Given the description of an element on the screen output the (x, y) to click on. 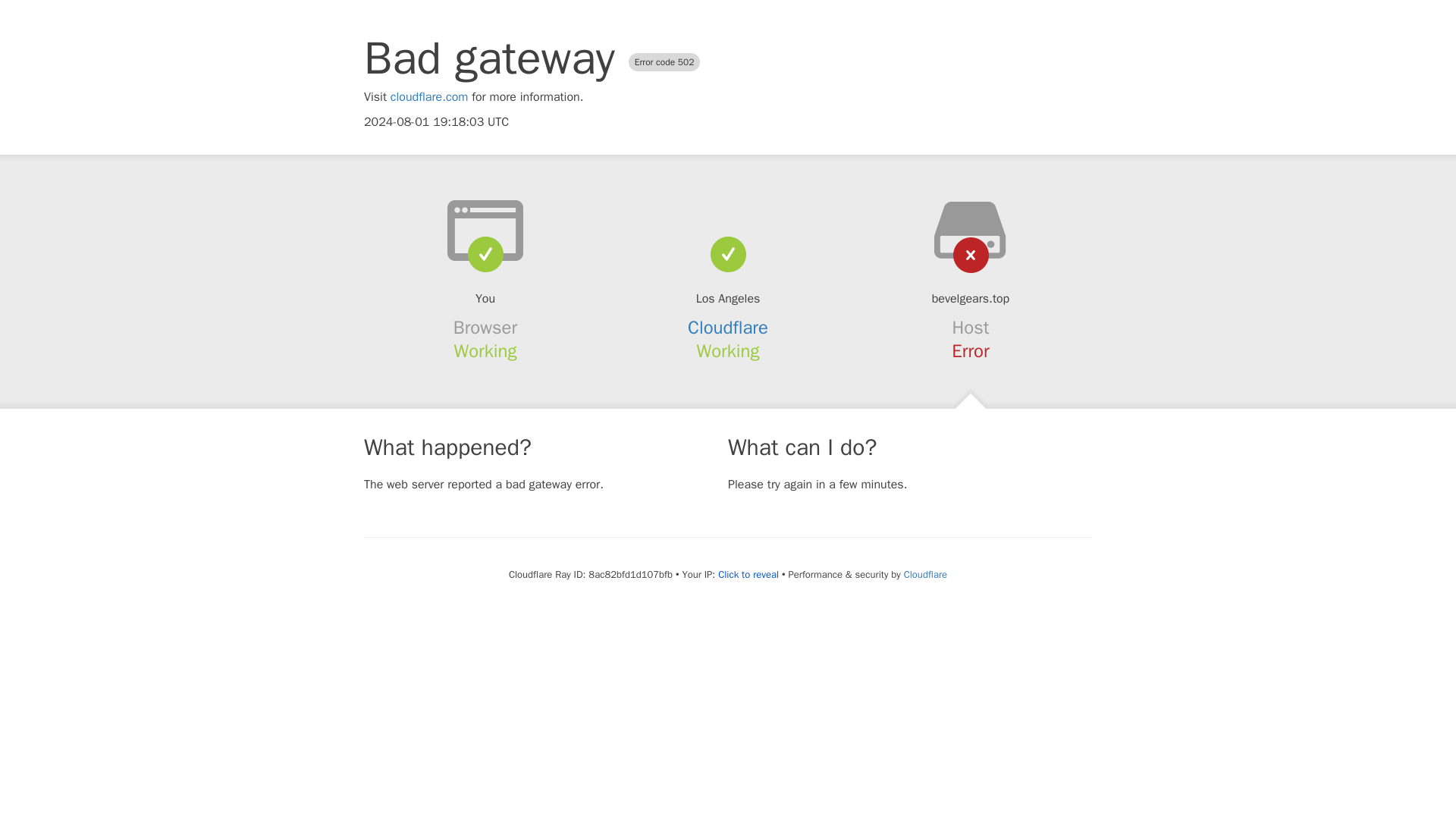
cloudflare.com (429, 96)
Cloudflare (925, 574)
Cloudflare (727, 327)
Click to reveal (747, 574)
